Given the description of an element on the screen output the (x, y) to click on. 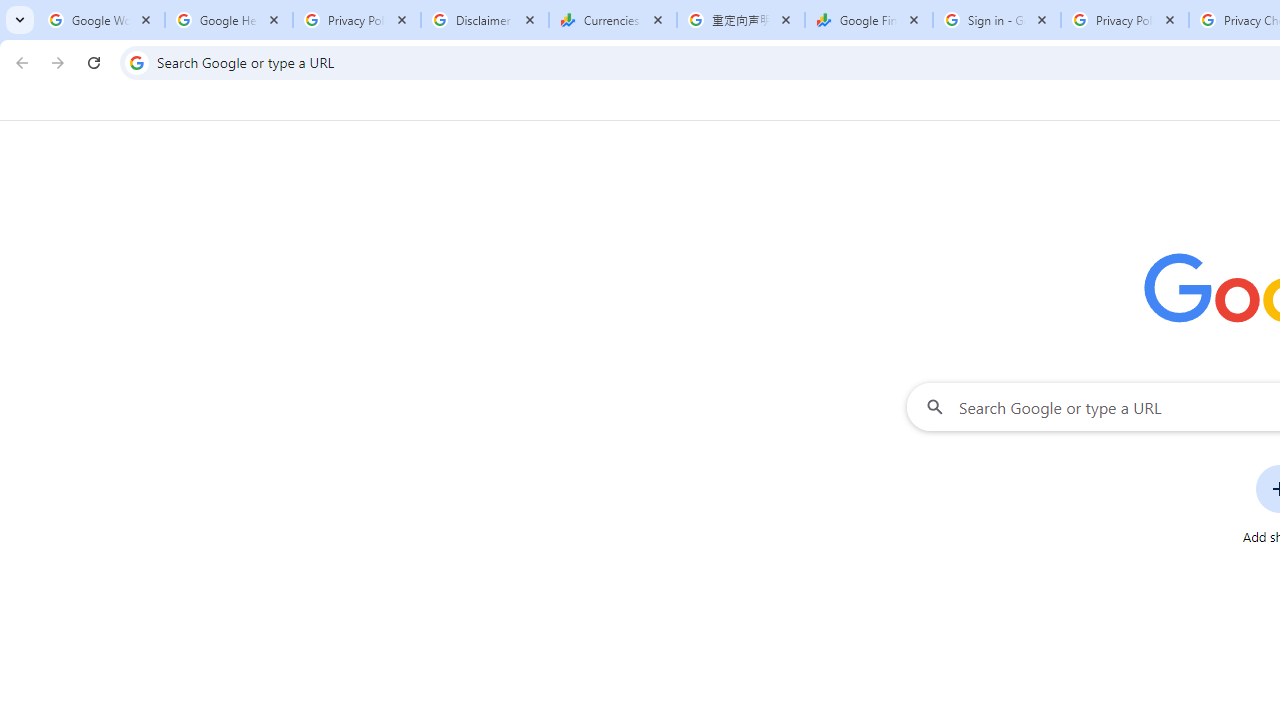
Sign in - Google Accounts (997, 20)
Google Workspace Admin Community (101, 20)
Currencies - Google Finance (613, 20)
Search icon (136, 62)
